Given the description of an element on the screen output the (x, y) to click on. 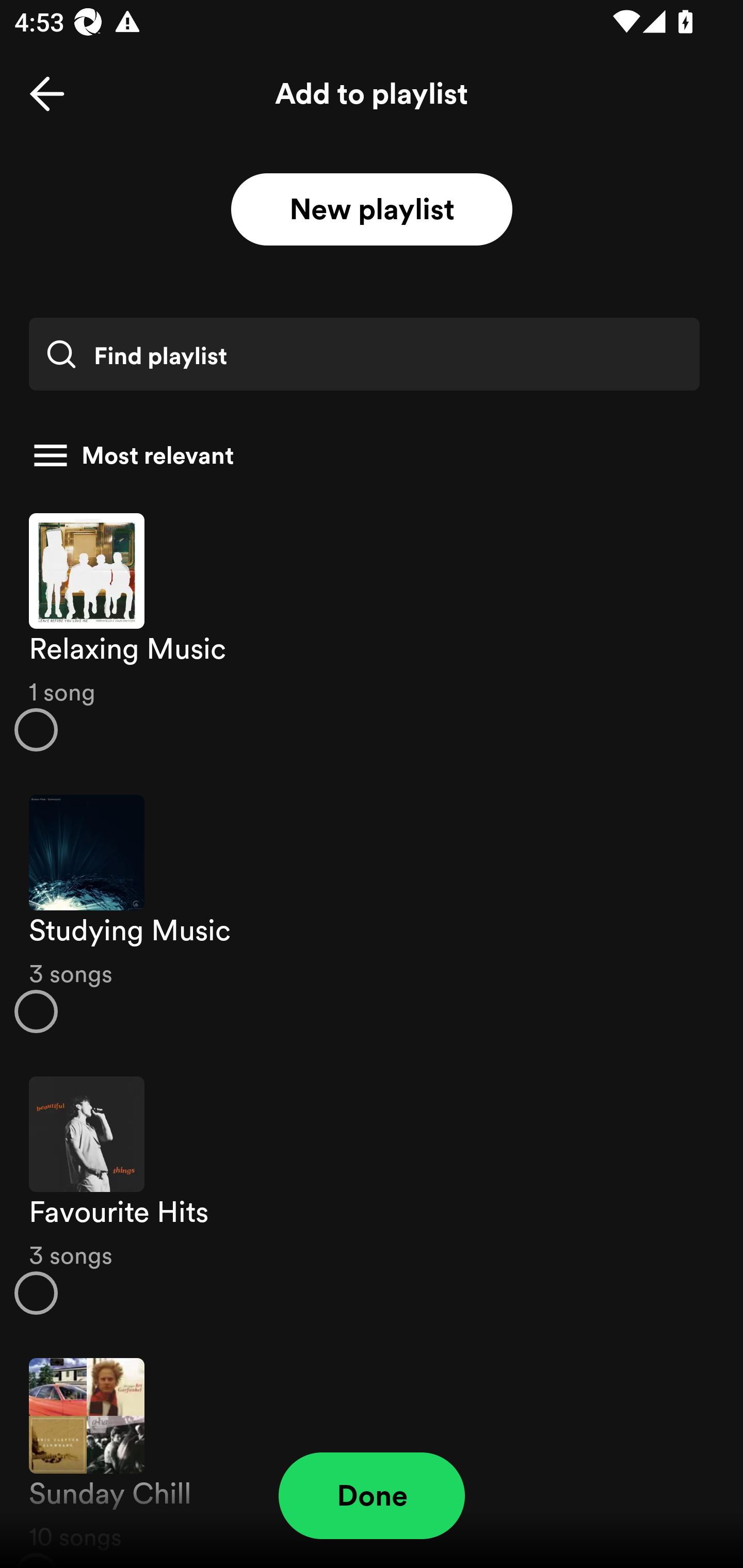
Back (46, 93)
New playlist (371, 210)
Find playlist (363, 354)
Most relevant (363, 455)
Relaxing Music 1 song (371, 631)
Studying Music 3 songs (371, 914)
Favourite Hits 3 songs (371, 1195)
Sunday Chill 10 songs (371, 1451)
Done (371, 1495)
